Given the description of an element on the screen output the (x, y) to click on. 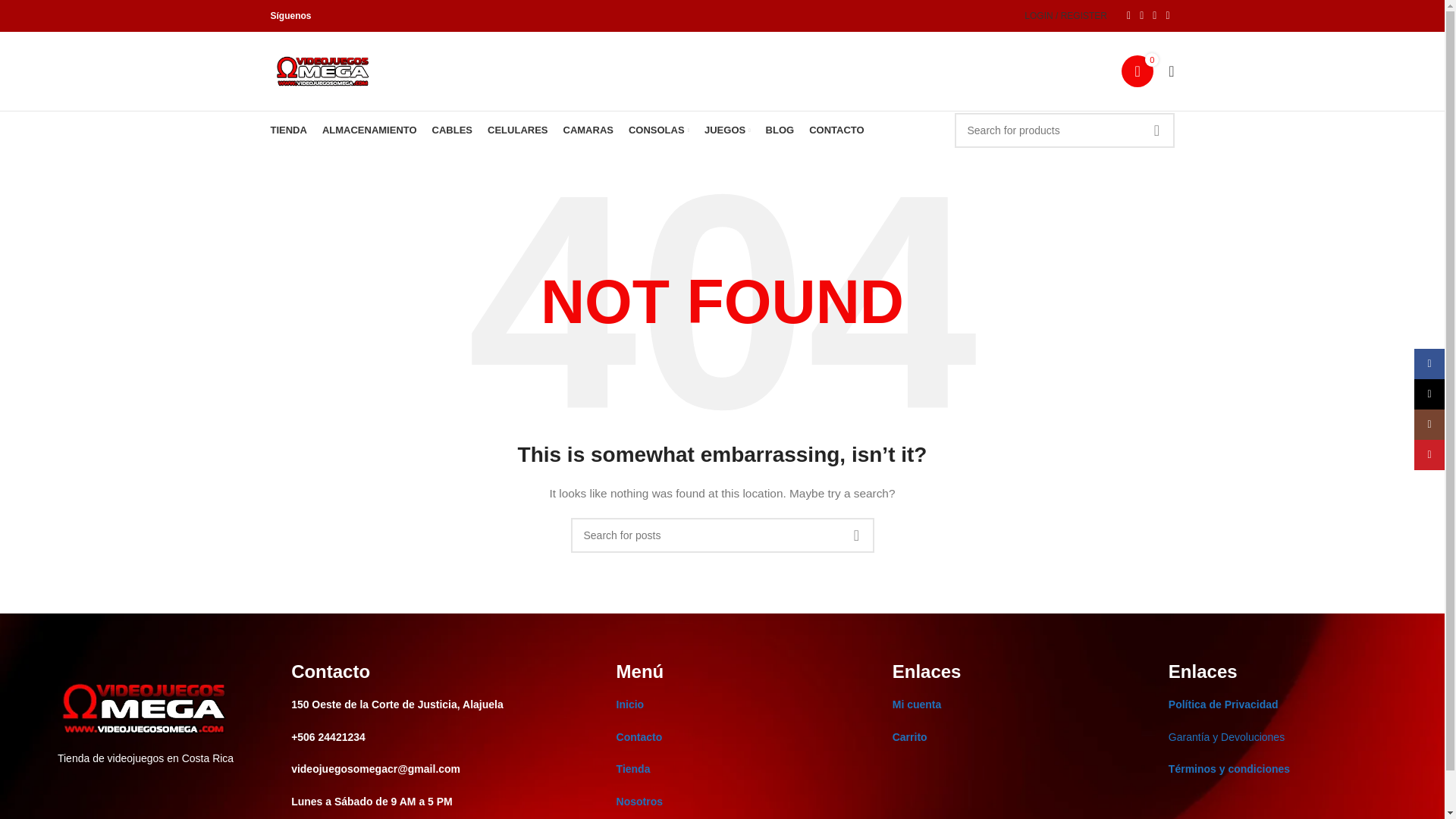
Log in (981, 246)
My account (1065, 15)
Shopping cart (1136, 71)
Search for posts (721, 534)
CONTACTO (836, 130)
SEARCH (855, 534)
CELULARES (517, 130)
CAMARAS (587, 130)
BLOG (779, 130)
SEARCH (1155, 130)
